Given the description of an element on the screen output the (x, y) to click on. 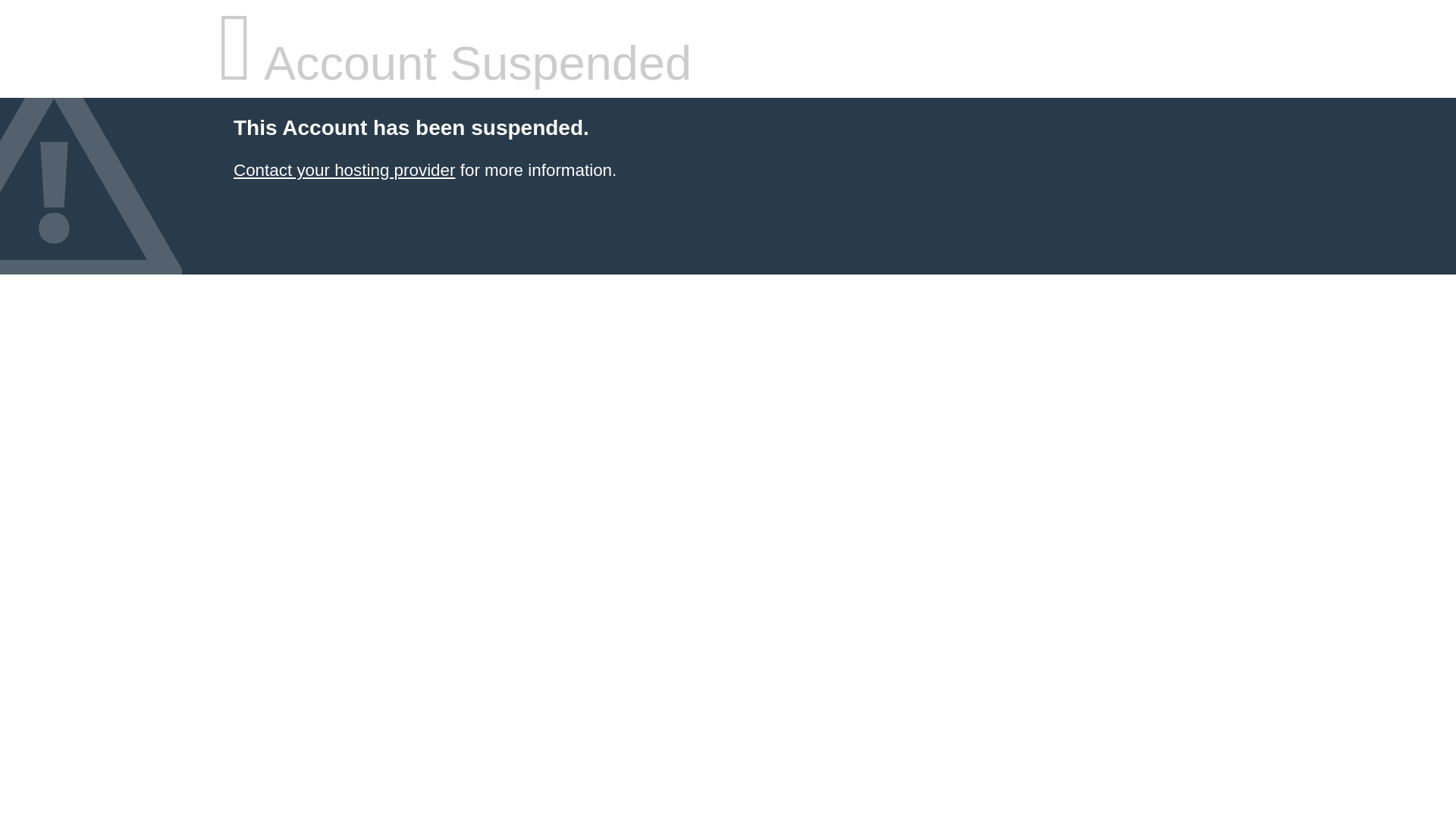
Contact your hosting provider (343, 169)
